Given the description of an element on the screen output the (x, y) to click on. 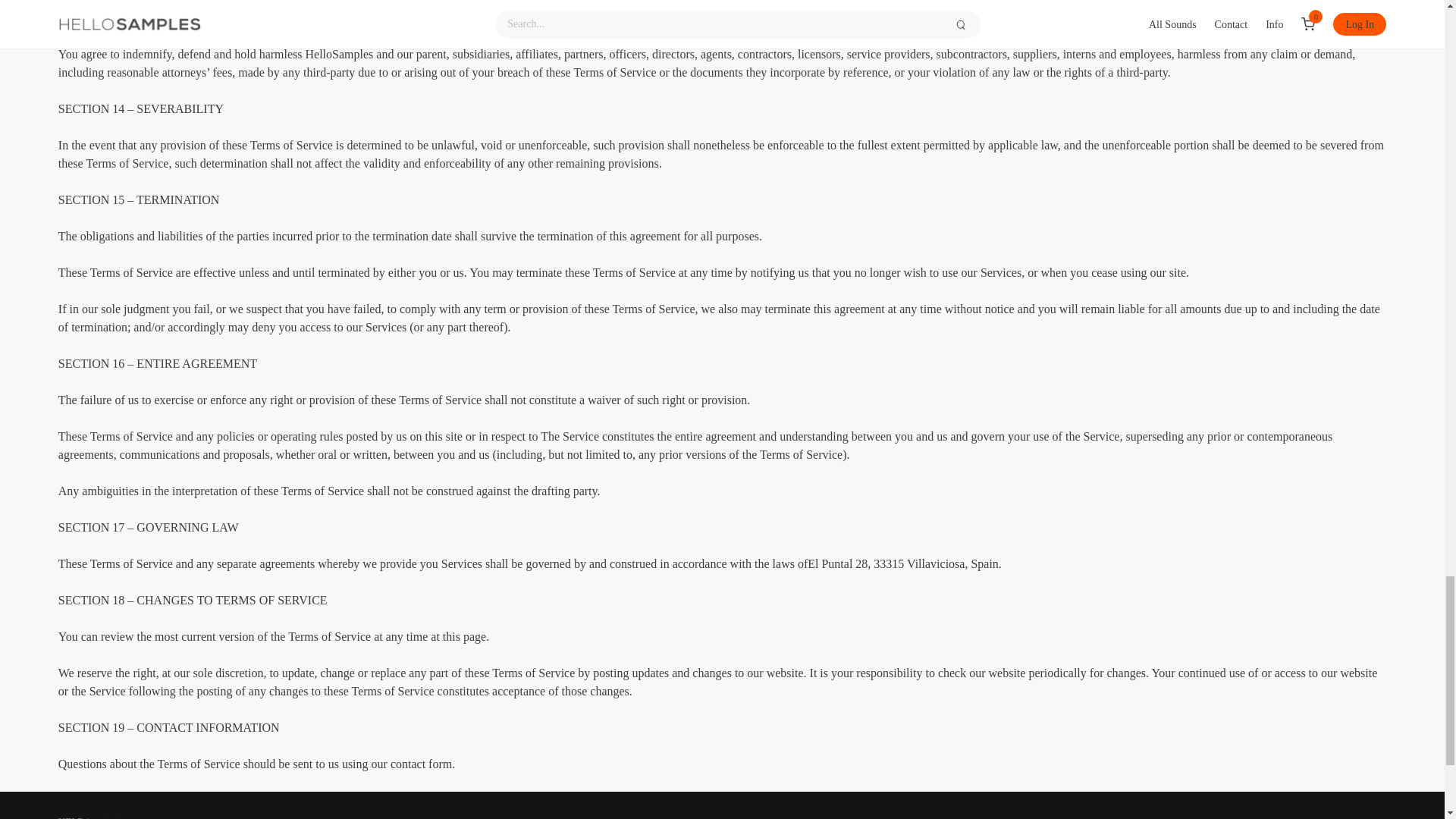
contact form (420, 763)
